Given the description of an element on the screen output the (x, y) to click on. 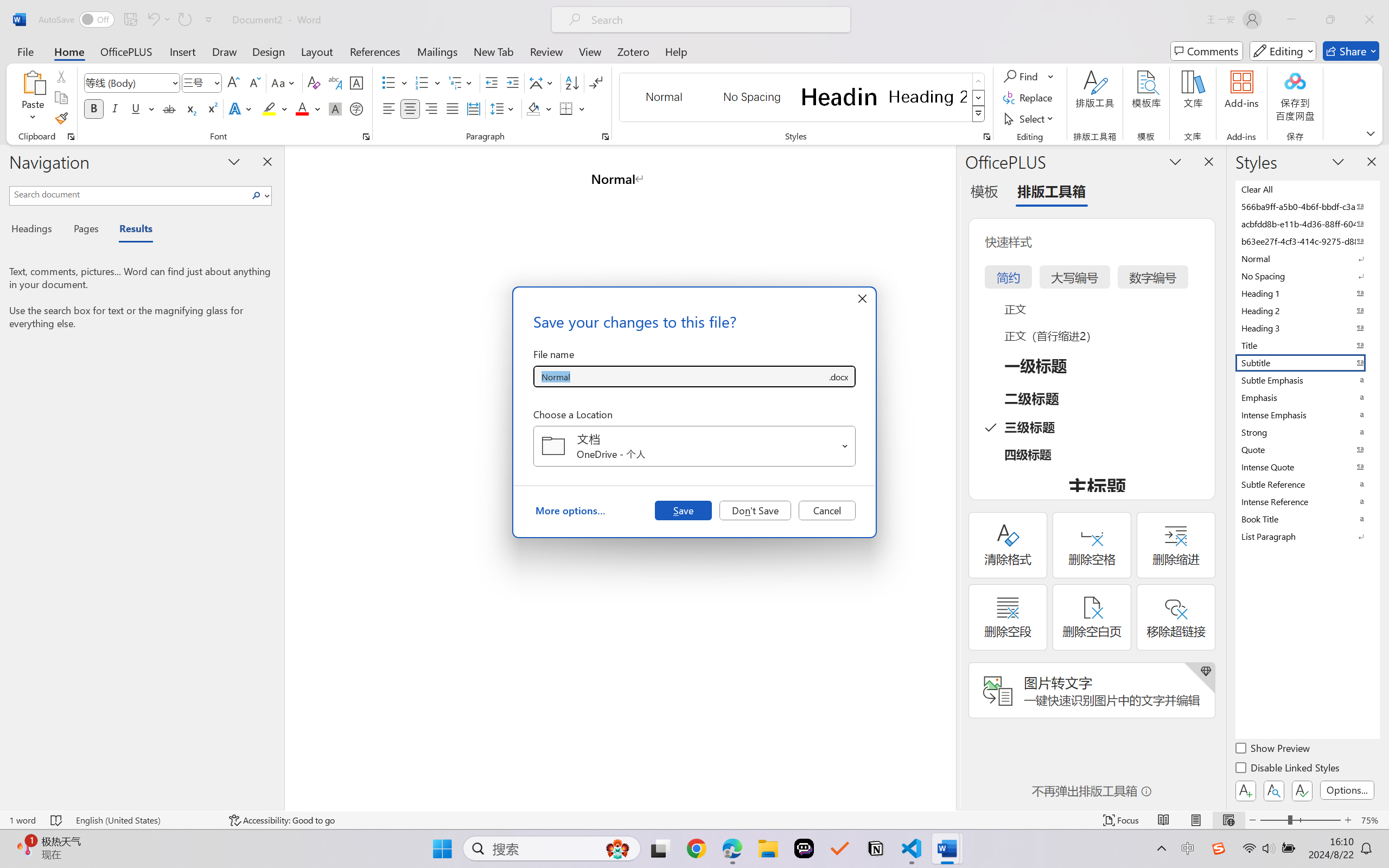
Row Down (978, 97)
Draw (224, 51)
Paste (33, 97)
Justify (452, 108)
Undo Style (158, 19)
Borders (566, 108)
Task Pane Options (1175, 161)
Styles (978, 113)
Character Shading (334, 108)
Focus  (1121, 819)
Text Highlight Color Yellow (269, 108)
